Given the description of an element on the screen output the (x, y) to click on. 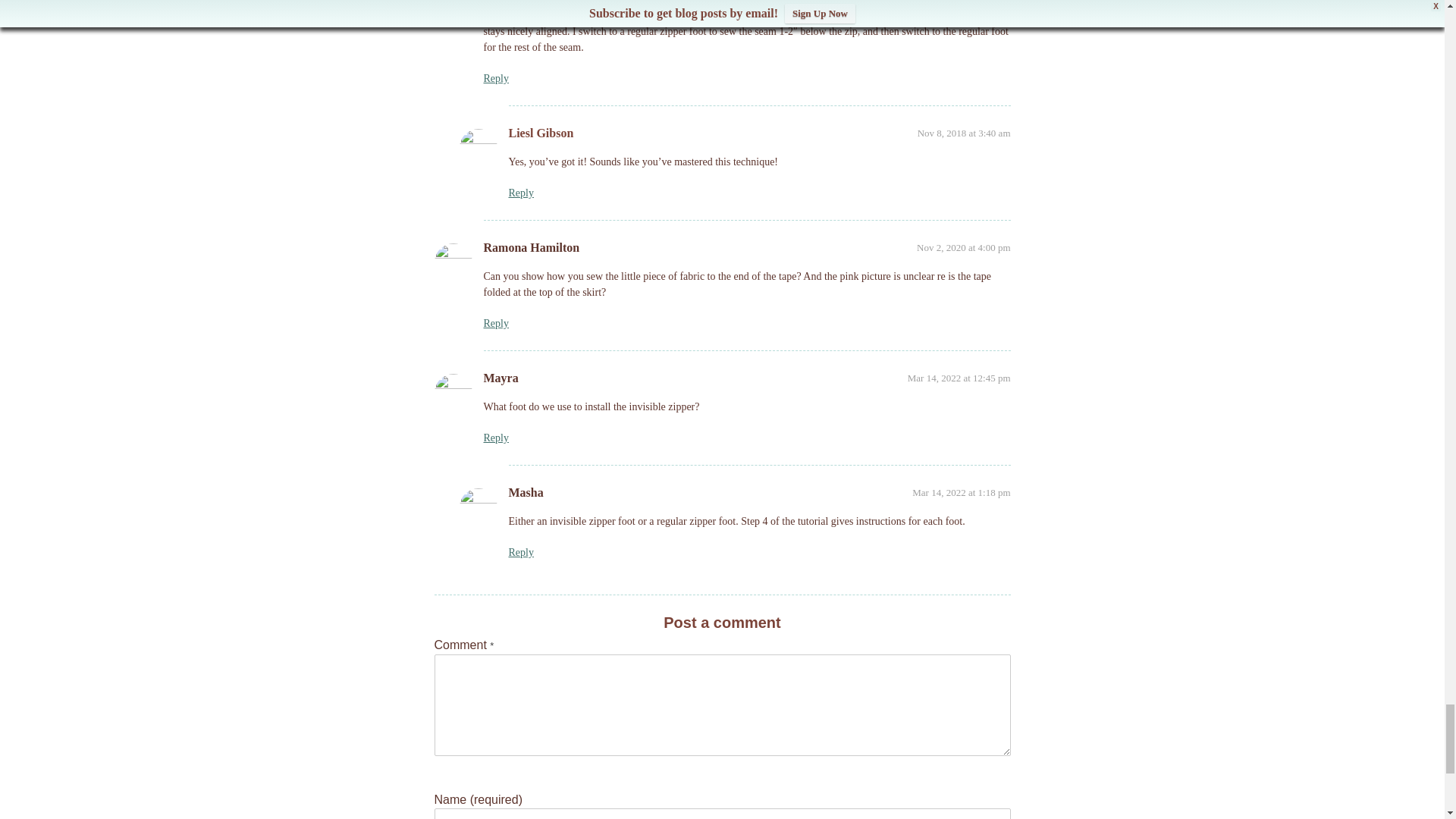
Liesl Gibson (540, 132)
Reply (495, 78)
